Given the description of an element on the screen output the (x, y) to click on. 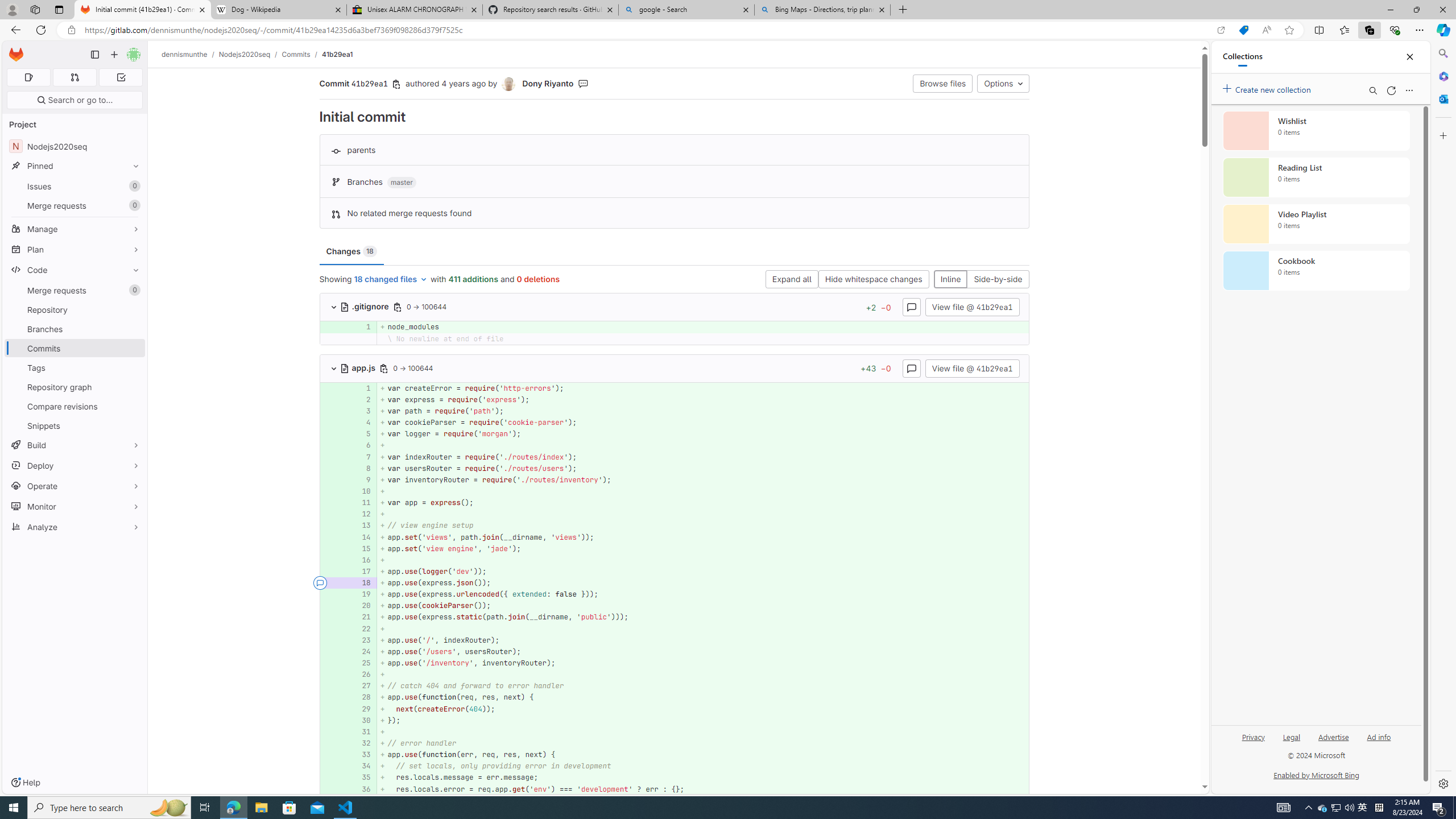
AutomationID: 4a68969ef8e858229267b842dedf42ab5dde4d50_0_21 (674, 617)
Privacy (1252, 741)
+ var indexRouter = require('./routes/index');  (703, 456)
+ // view engine setup  (703, 525)
Create new collection (1268, 87)
6 (362, 445)
AutomationID: 4a68969ef8e858229267b842dedf42ab5dde4d50_0_34 (674, 766)
Browse files (942, 83)
Compare revisions (74, 406)
Favorites (1344, 29)
AutomationID: 4a68969ef8e858229267b842dedf42ab5dde4d50_0_33 (674, 754)
Address and search bar (647, 29)
Class: s12 (319, 787)
2 (360, 399)
N Nodejs2020seq (74, 145)
